Given the description of an element on the screen output the (x, y) to click on. 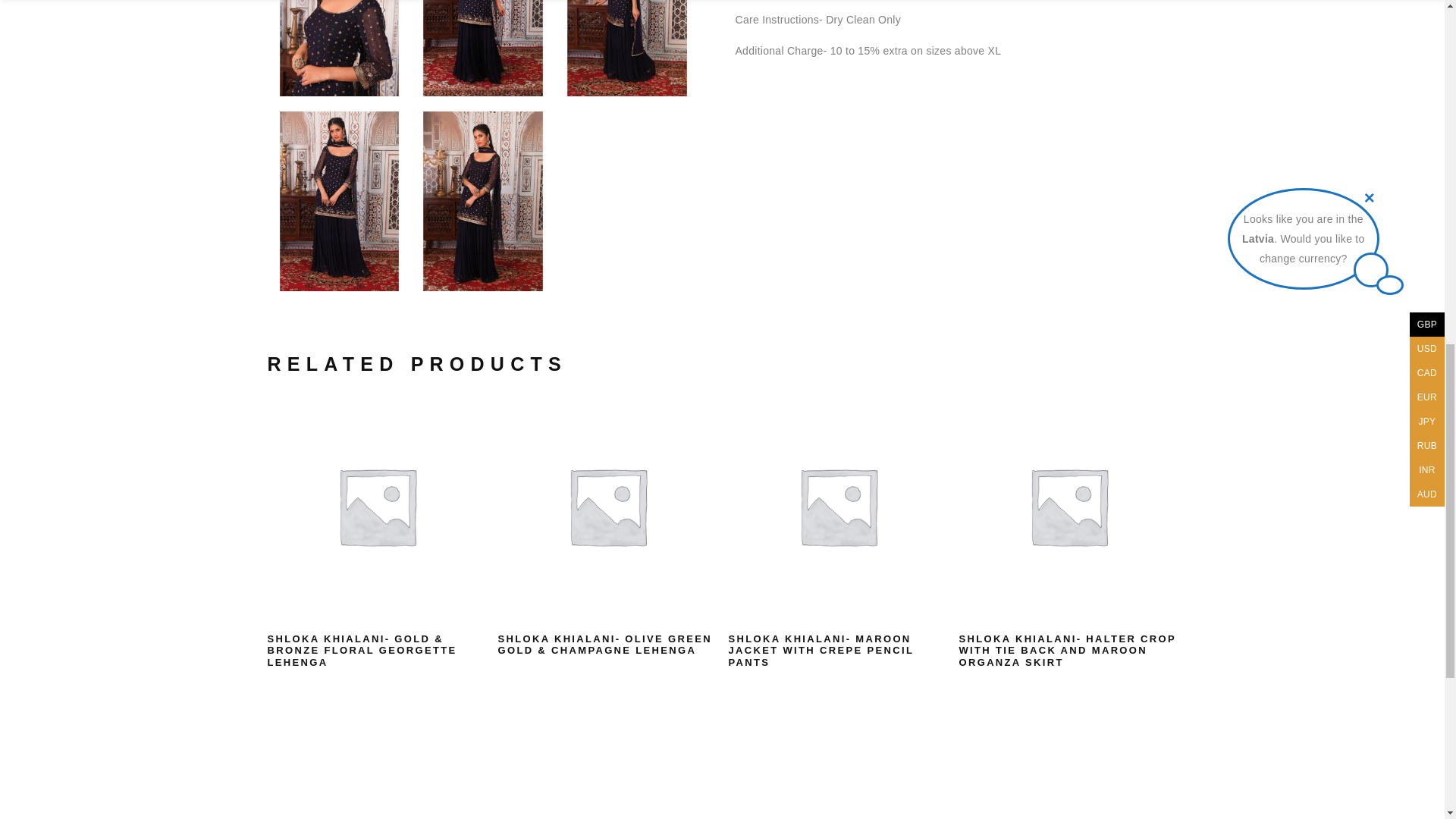
1A7A6638 final (338, 48)
1A7A6635 final (482, 48)
1A7A6644 final (626, 48)
